Given the description of an element on the screen output the (x, y) to click on. 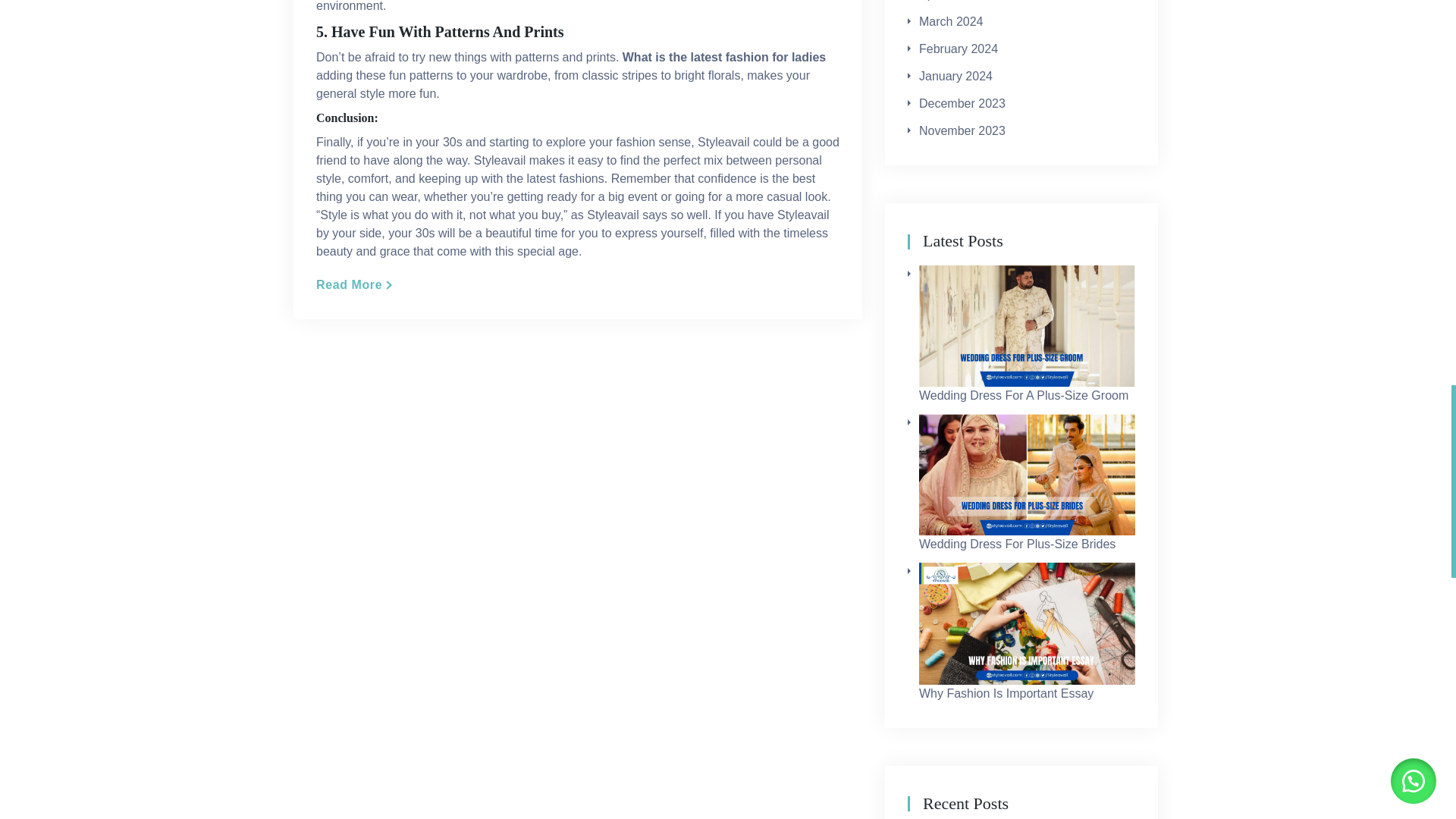
Read More (352, 285)
